Given the description of an element on the screen output the (x, y) to click on. 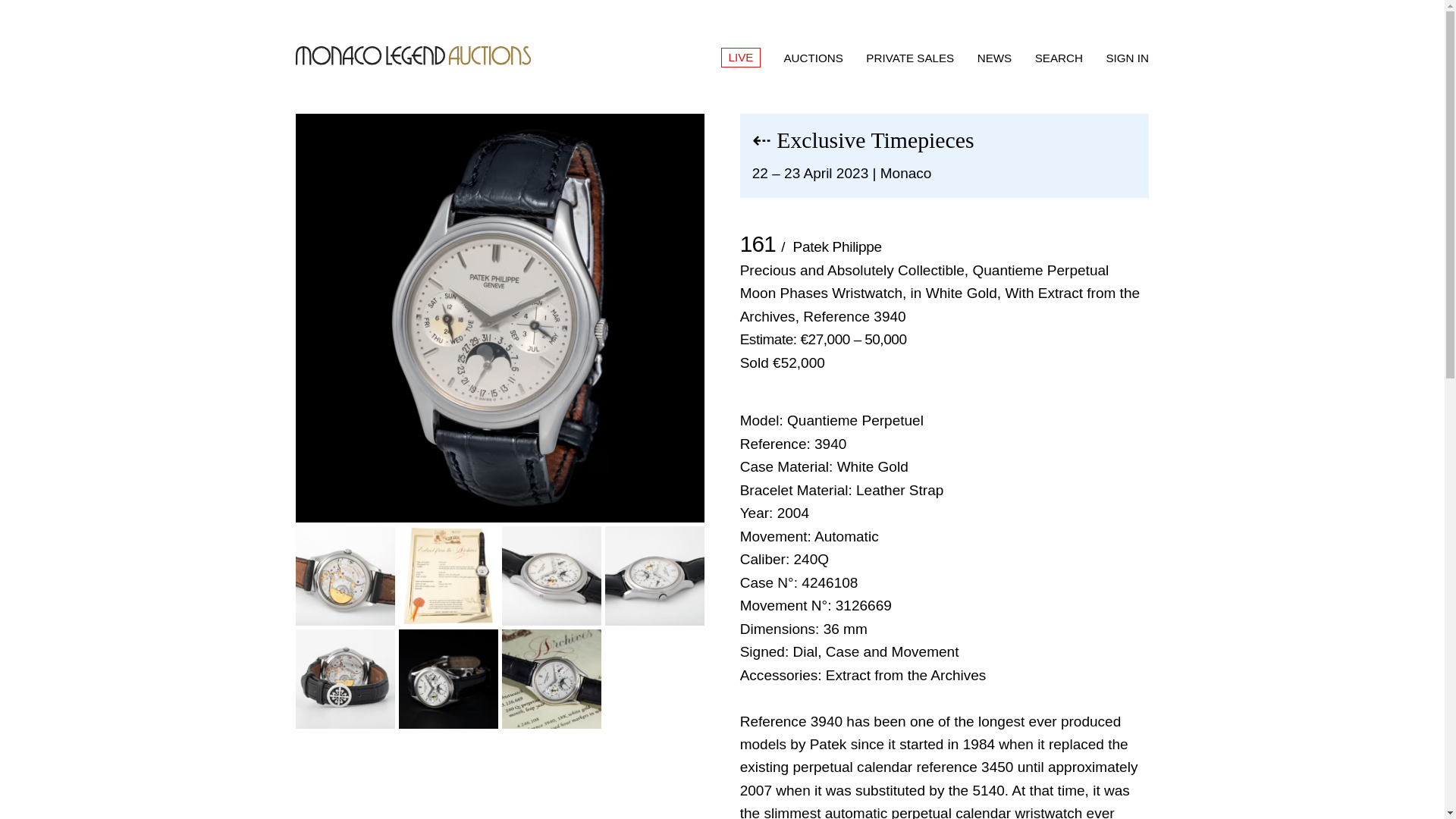
PRIVATE SALES (909, 58)
SIGN IN (1126, 58)
Subscribe (1361, 761)
SEARCH (1059, 58)
HOME (413, 56)
AUCTIONS (813, 58)
LIVE (740, 57)
NEWS (993, 58)
